Given the description of an element on the screen output the (x, y) to click on. 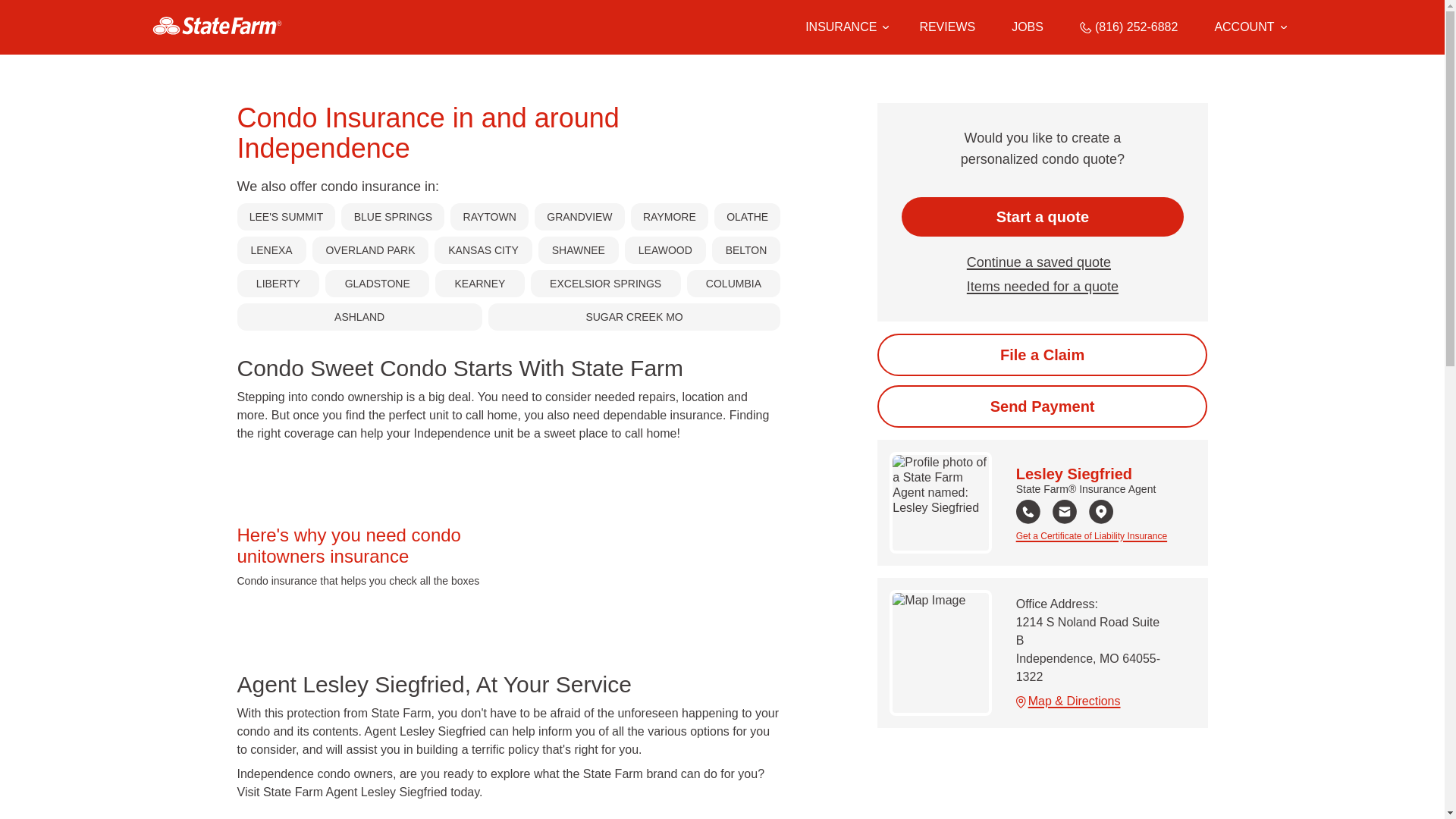
REVIEWS (946, 27)
Account Options (1250, 27)
JOBS (1027, 27)
Insurance (844, 27)
ACCOUNT (1250, 27)
Start the claim process online (1042, 354)
INSURANCE (840, 27)
